Given the description of an element on the screen output the (x, y) to click on. 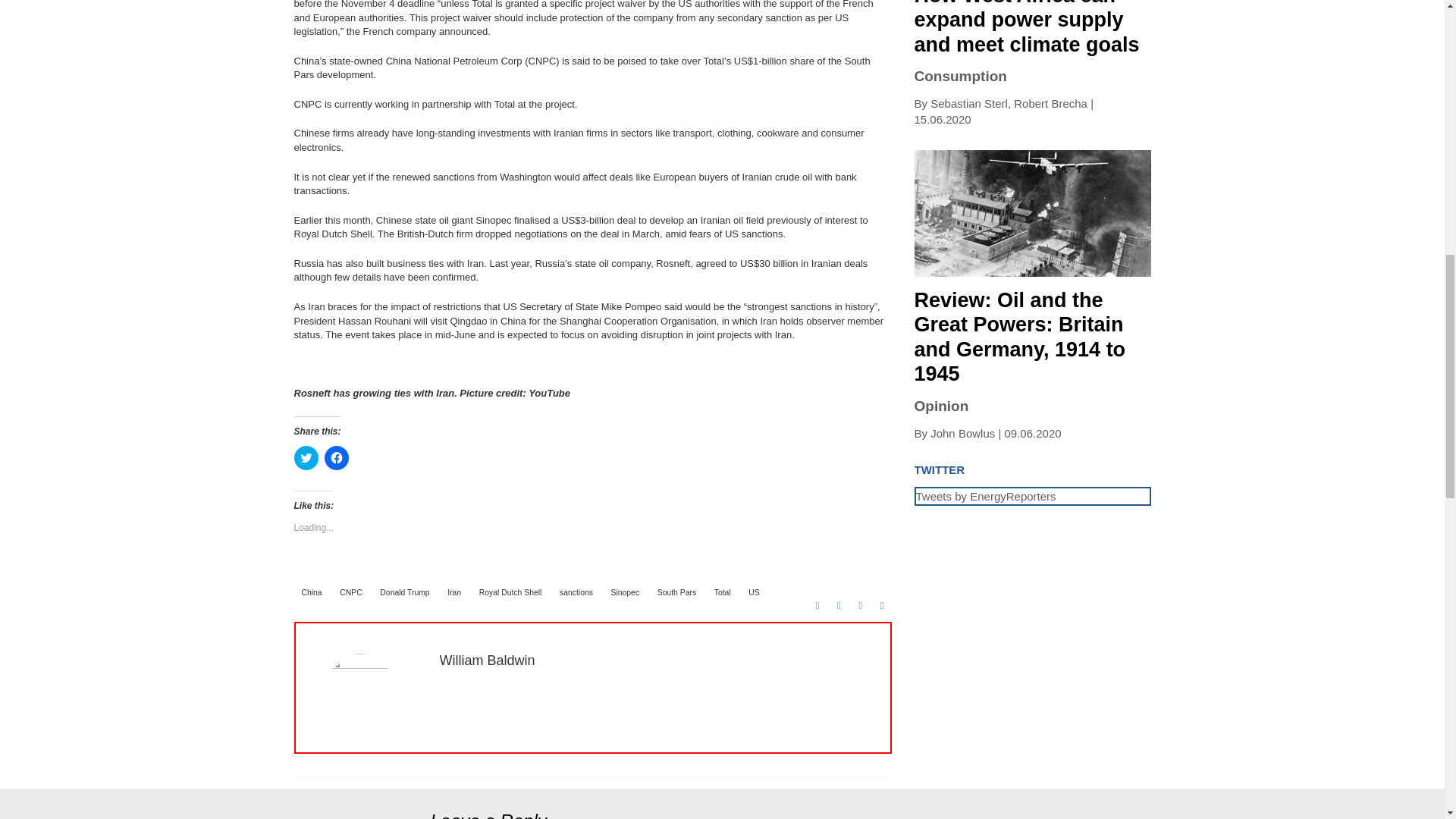
China (312, 592)
Click to share on Facebook (336, 457)
Print (859, 605)
Send Email (881, 605)
Twitter (838, 605)
Donald Trump (404, 592)
Facebook (817, 605)
Click to share on Twitter (306, 457)
CNPC (350, 592)
